Given the description of an element on the screen output the (x, y) to click on. 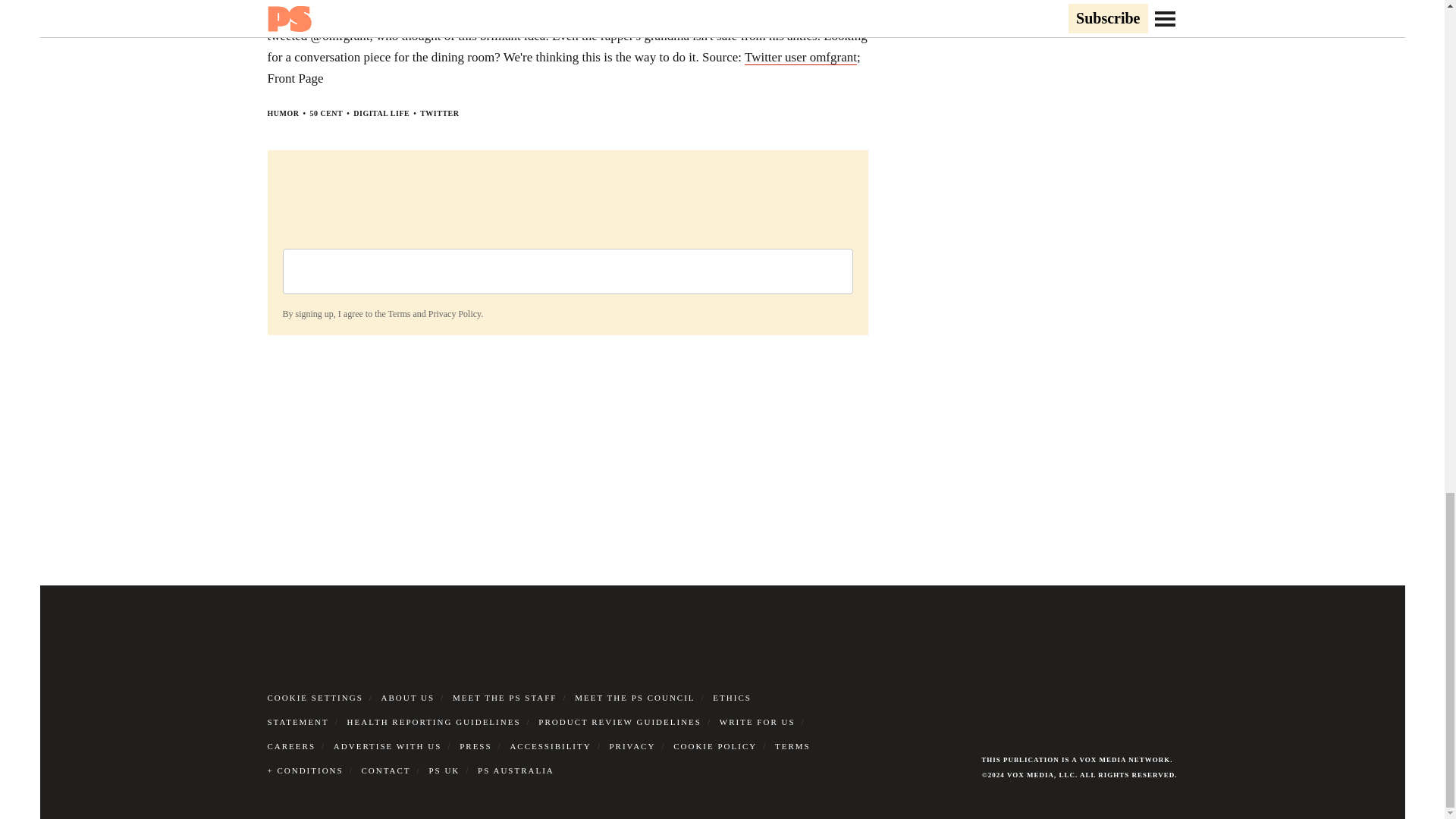
ADVERTISE WITH US (387, 746)
MEET THE PS STAFF (504, 697)
PRODUCT REVIEW GUIDELINES (619, 721)
50 CENT (325, 112)
PRIVACY (633, 746)
MEET THE PS COUNCIL (634, 697)
WRITE FOR US (756, 721)
DIGITAL LIFE (381, 112)
ABOUT US (408, 697)
HUMOR (282, 112)
